Given the description of an element on the screen output the (x, y) to click on. 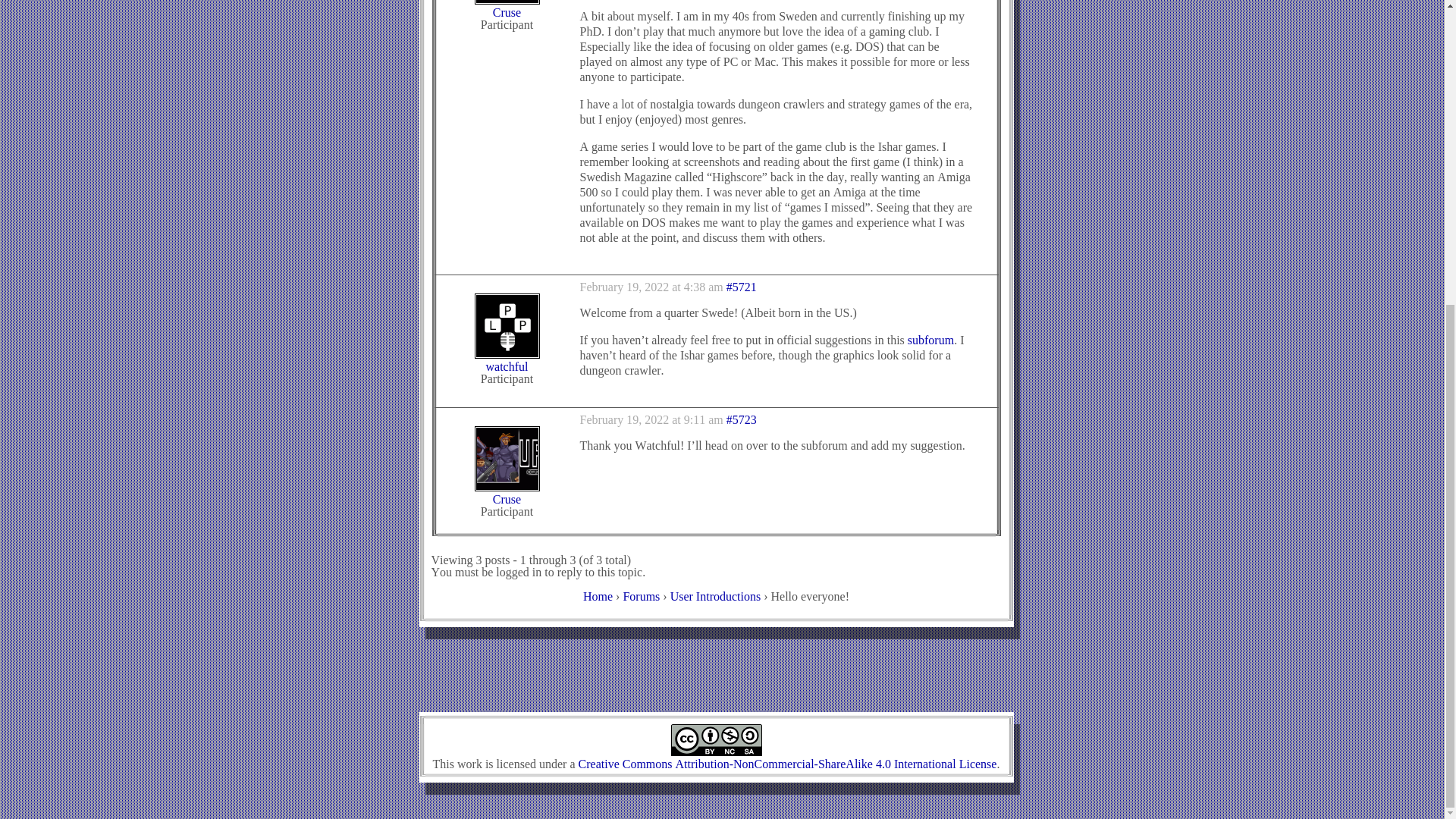
View watchful's profile (507, 360)
View Cruse's profile (507, 493)
View Cruse's profile (507, 9)
